Given the description of an element on the screen output the (x, y) to click on. 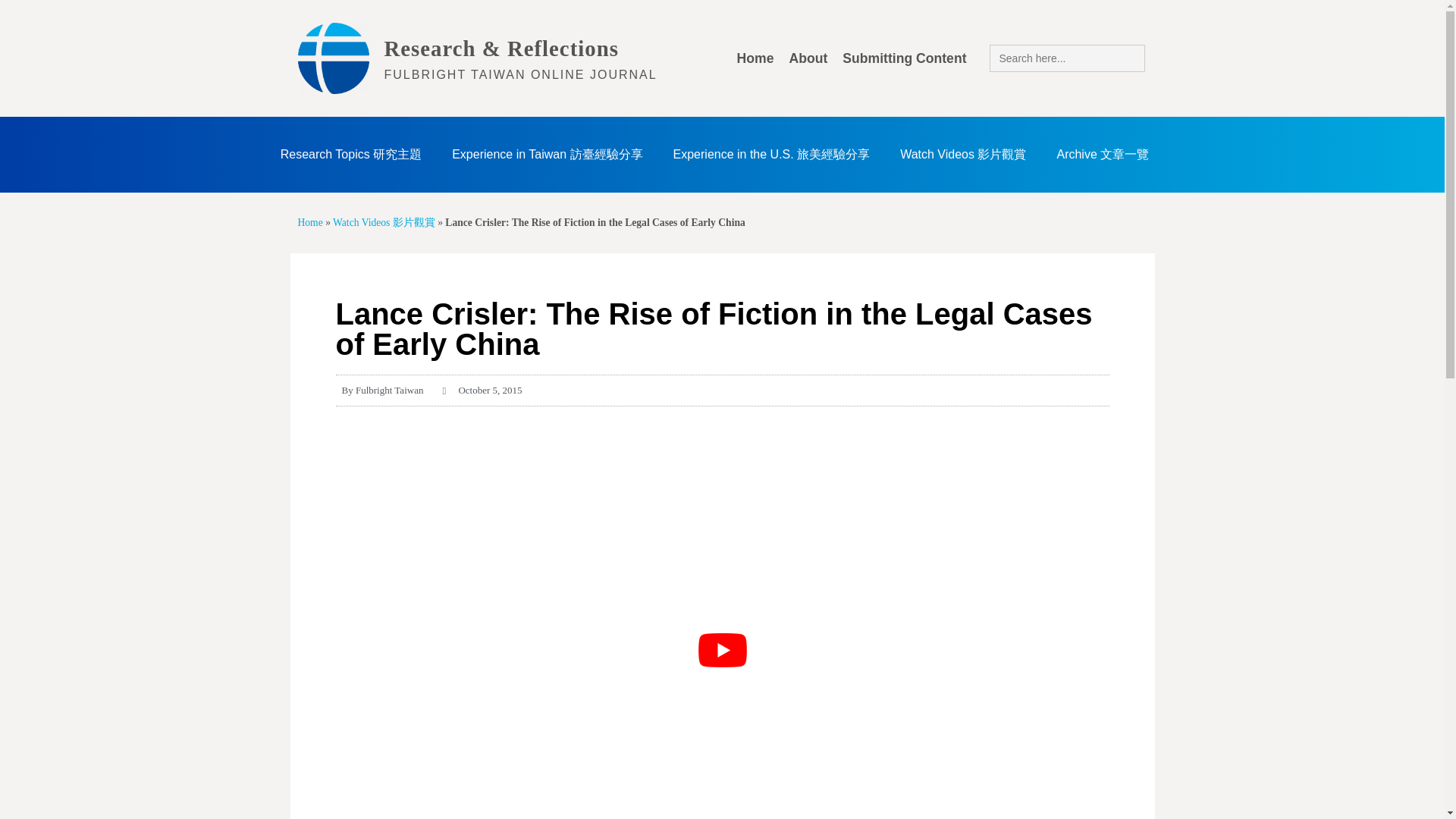
Home (755, 58)
About (807, 58)
Submitting Content (904, 58)
